Given the description of an element on the screen output the (x, y) to click on. 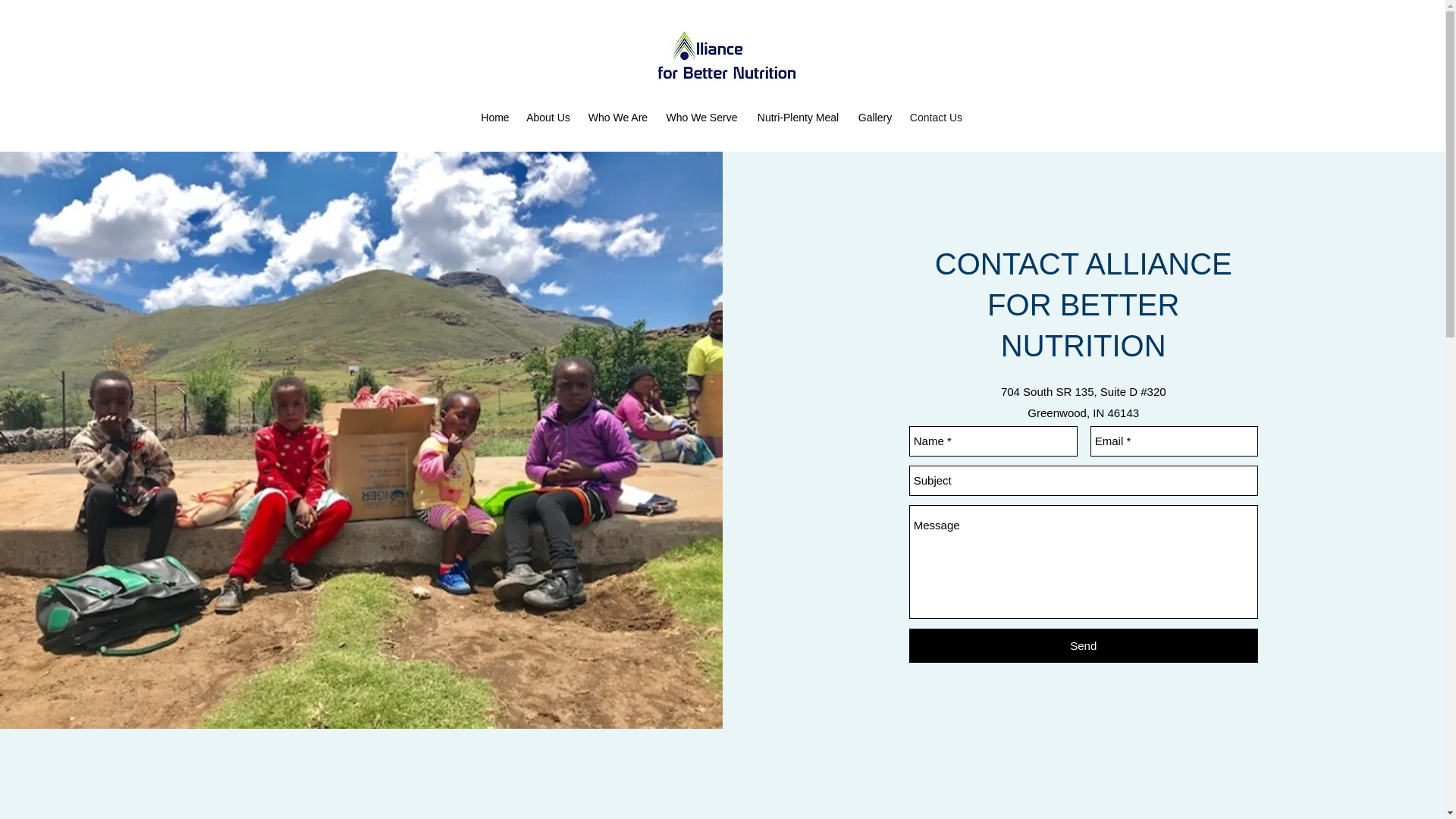
Nutri-Plenty Meal (796, 117)
Gallery (873, 117)
Who We Serve (700, 117)
Who We Are (617, 117)
Home (493, 117)
Send (1082, 645)
Contact Us (935, 117)
About Us (547, 117)
